Given the description of an element on the screen output the (x, y) to click on. 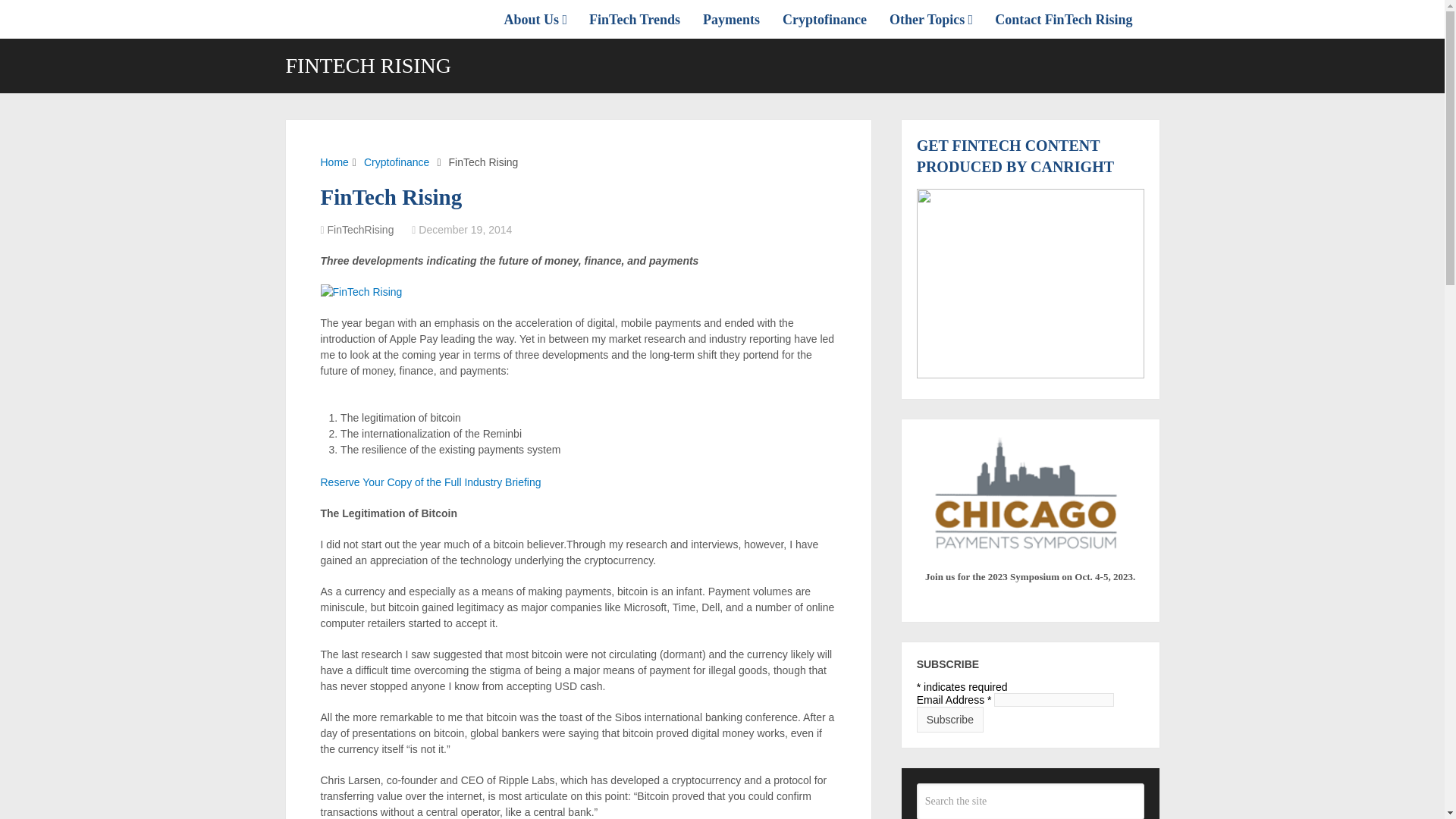
Posts by FinTechRising (360, 229)
Home (333, 162)
About Us (540, 19)
Cryptofinance (396, 162)
Cryptofinance (824, 19)
Contact FinTech Rising (1063, 19)
FINTECH RISING (368, 65)
FinTechRising (360, 229)
Other Topics (930, 19)
Reserve Your Copy of the Full Industry Briefing (430, 481)
FinTech Trends (634, 19)
Payments (731, 19)
Subscribe (950, 719)
